Given the description of an element on the screen output the (x, y) to click on. 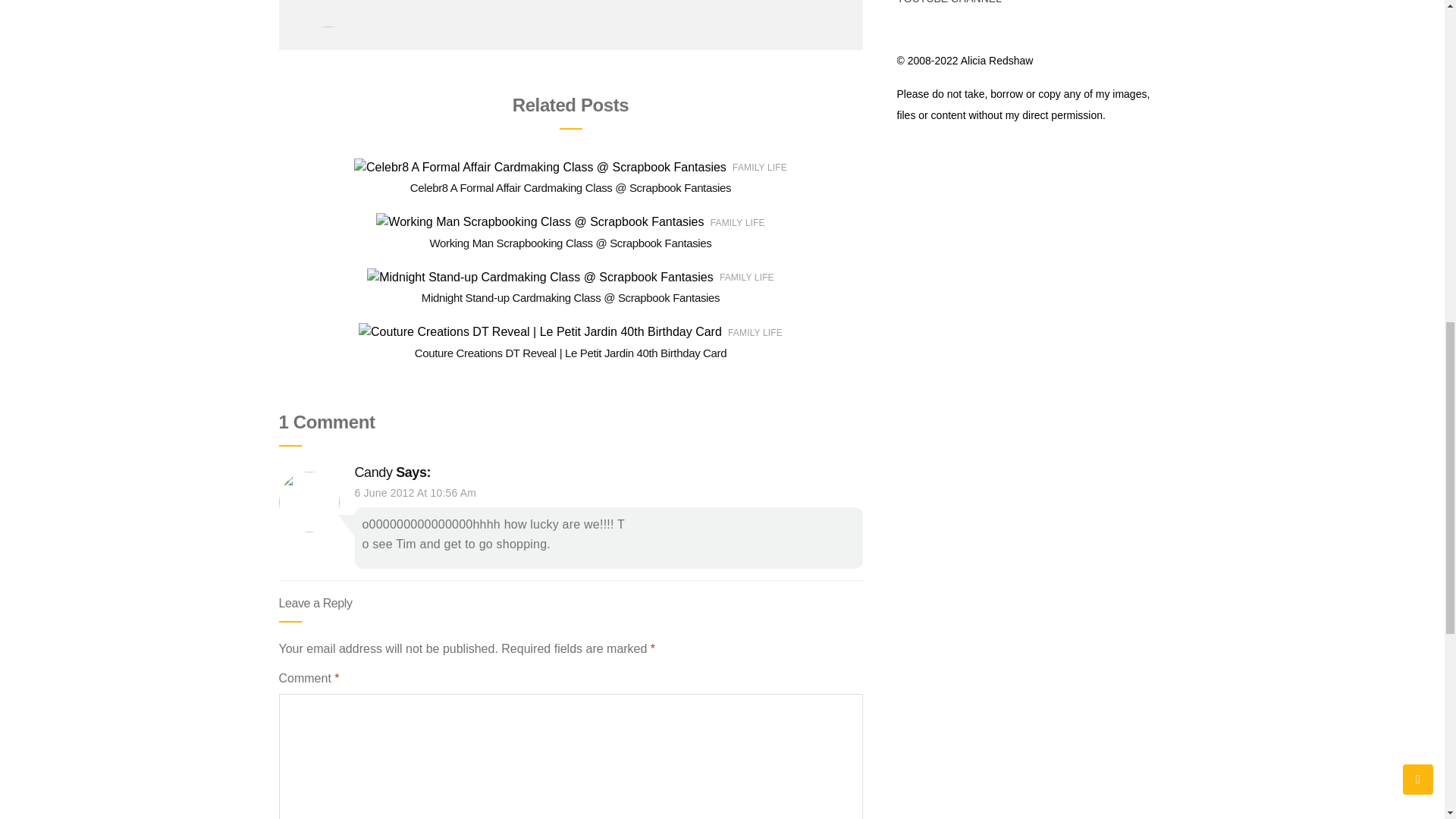
FAMILY LIFE (759, 167)
6 June 2012 At 10:56 Am (416, 492)
FAMILY LIFE (755, 332)
FAMILY LIFE (746, 276)
FAMILY LIFE (737, 222)
